Given the description of an element on the screen output the (x, y) to click on. 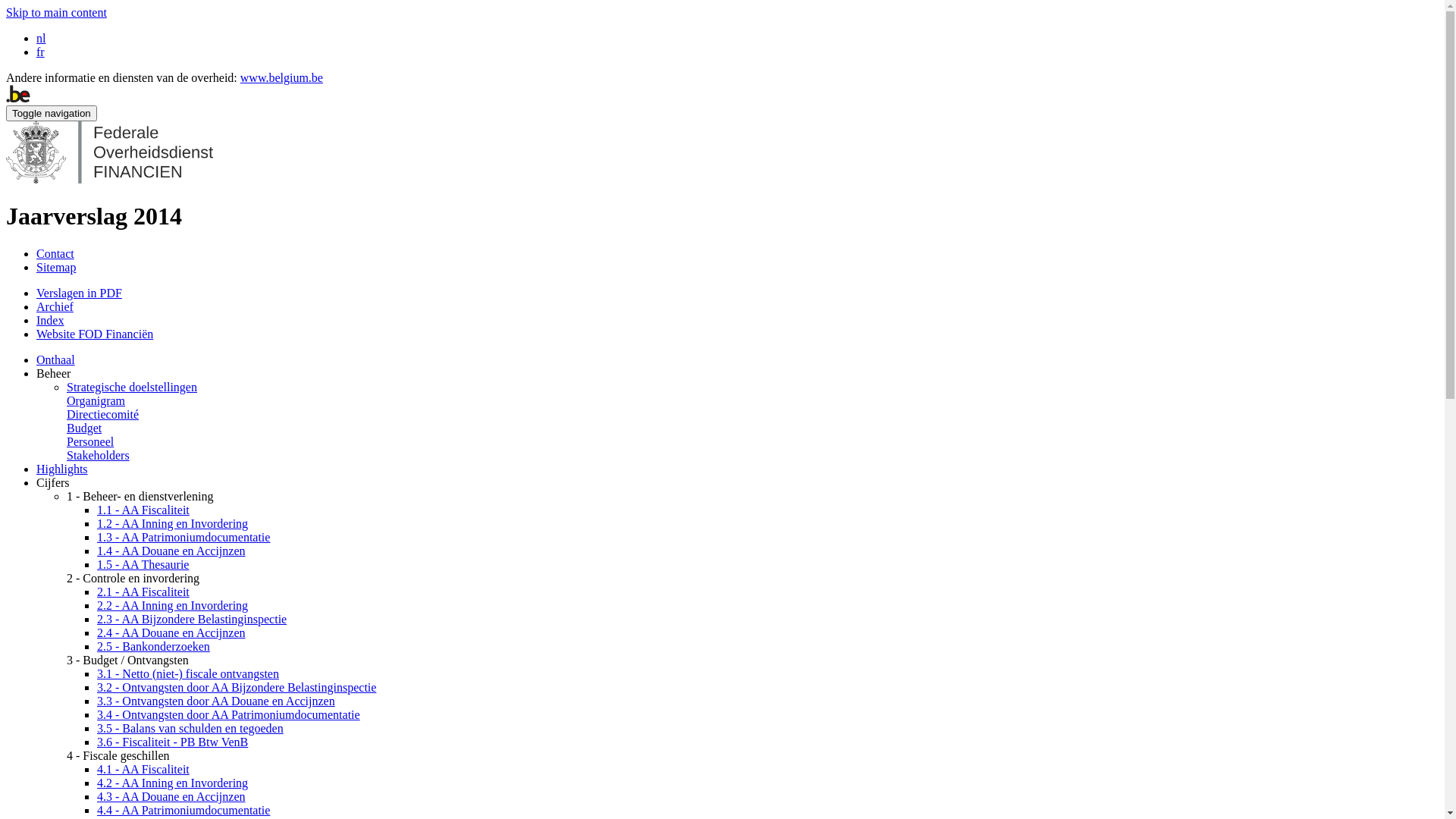
4.4 - AA Patrimoniumdocumentatie Element type: text (183, 809)
3.4 - Ontvangsten door AA Patrimoniumdocumentatie Element type: text (228, 714)
1.4 - AA Douane en Accijnzen Element type: text (171, 550)
Index Element type: text (49, 319)
1.2 - AA Inning en Invordering Element type: text (172, 523)
Contact Element type: text (55, 253)
2.3 - AA Bijzondere Belastinginspectie Element type: text (191, 618)
Home Element type: hover (109, 178)
Budget Element type: text (83, 427)
2.1 - AA Fiscaliteit Element type: text (143, 591)
Archief Element type: text (54, 306)
www.belgium.be Element type: text (281, 77)
Highlights Element type: text (61, 468)
3.6 - Fiscaliteit - PB Btw VenB Element type: text (172, 741)
Toggle navigation Element type: text (51, 113)
2.5 - Bankonderzoeken Element type: text (153, 646)
Skip to main content Element type: text (56, 12)
Organigram Element type: text (95, 400)
3.3 - Ontvangsten door AA Douane en Accijnzen Element type: text (216, 700)
Personeel Element type: text (89, 441)
fr Element type: text (40, 51)
3.5 - Balans van schulden en tegoeden Element type: text (190, 727)
Onthaal Element type: text (55, 359)
Strategische doelstellingen Element type: text (131, 386)
4.1 - AA Fiscaliteit Element type: text (143, 768)
Stakeholders Element type: text (97, 454)
Verslagen in PDF Element type: text (79, 292)
nl Element type: text (40, 37)
1.1 - AA Fiscaliteit Element type: text (143, 509)
4.3 - AA Douane en Accijnzen Element type: text (171, 796)
1.5 - AA Thesaurie Element type: text (142, 564)
3.2 - Ontvangsten door AA Bijzondere Belastinginspectie Element type: text (236, 686)
3.1 - Netto (niet-) fiscale ontvangsten Element type: text (188, 673)
2.4 - AA Douane en Accijnzen Element type: text (171, 632)
4.2 - AA Inning en Invordering Element type: text (172, 782)
2.2 - AA Inning en Invordering Element type: text (172, 605)
Sitemap Element type: text (55, 266)
1.3 - AA Patrimoniumdocumentatie Element type: text (183, 536)
